Given the description of an element on the screen output the (x, y) to click on. 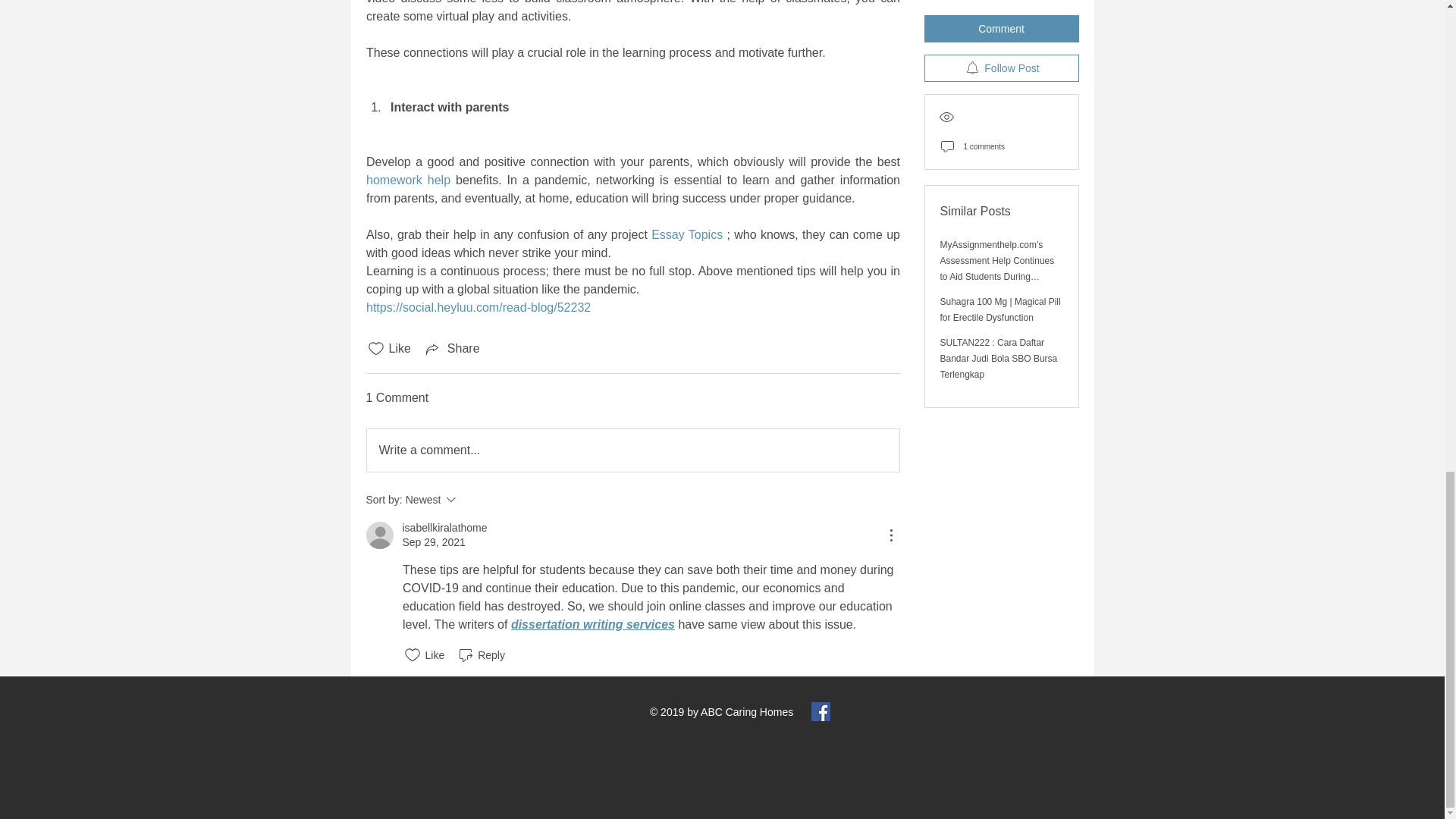
homework help (407, 179)
dissertation writing services (592, 624)
Write a comment... (471, 499)
Essay Topics (632, 450)
isabellkiralathome (686, 234)
Share (443, 527)
